Given the description of an element on the screen output the (x, y) to click on. 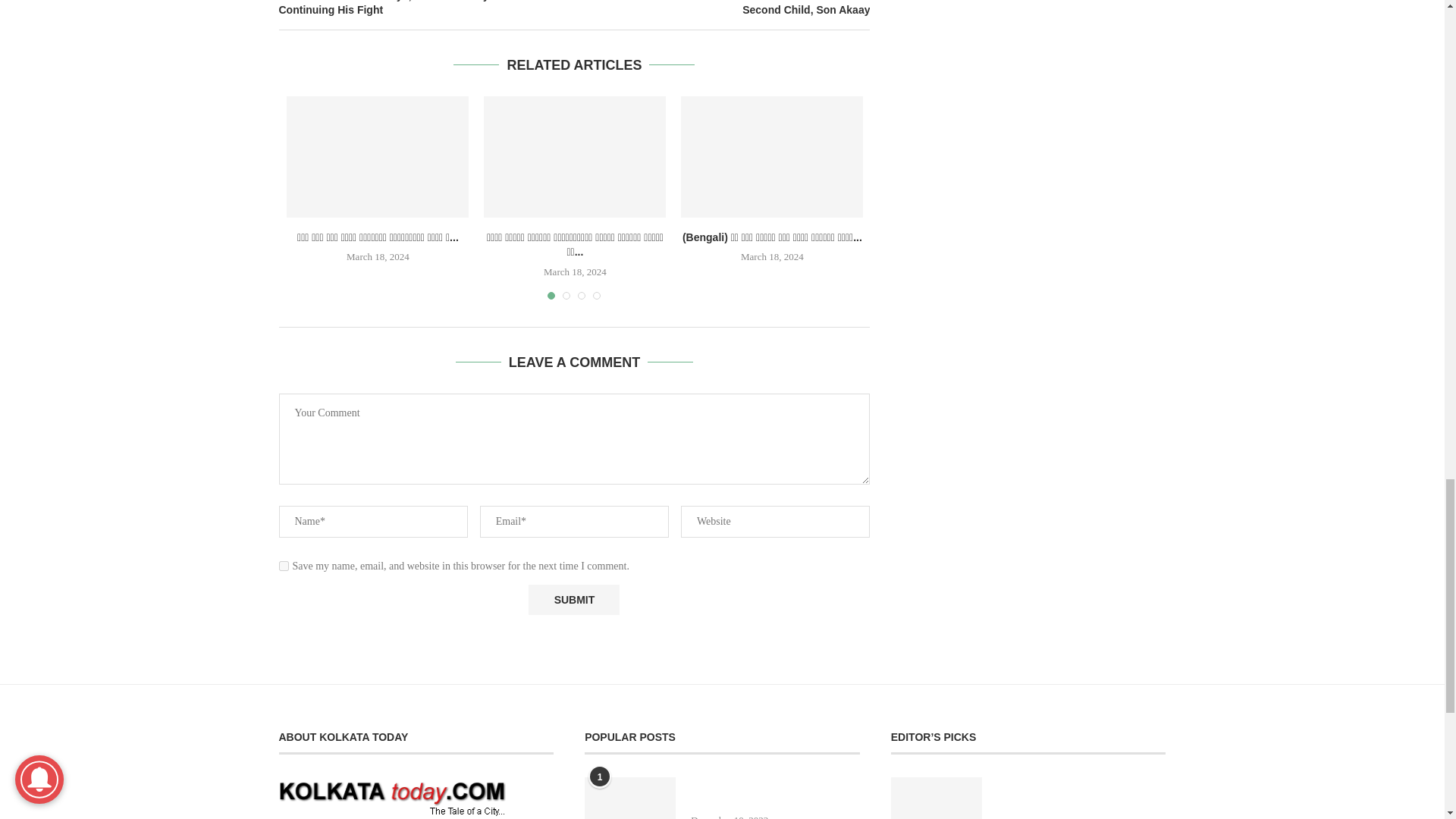
yes (283, 565)
Submit (574, 599)
